Given the description of an element on the screen output the (x, y) to click on. 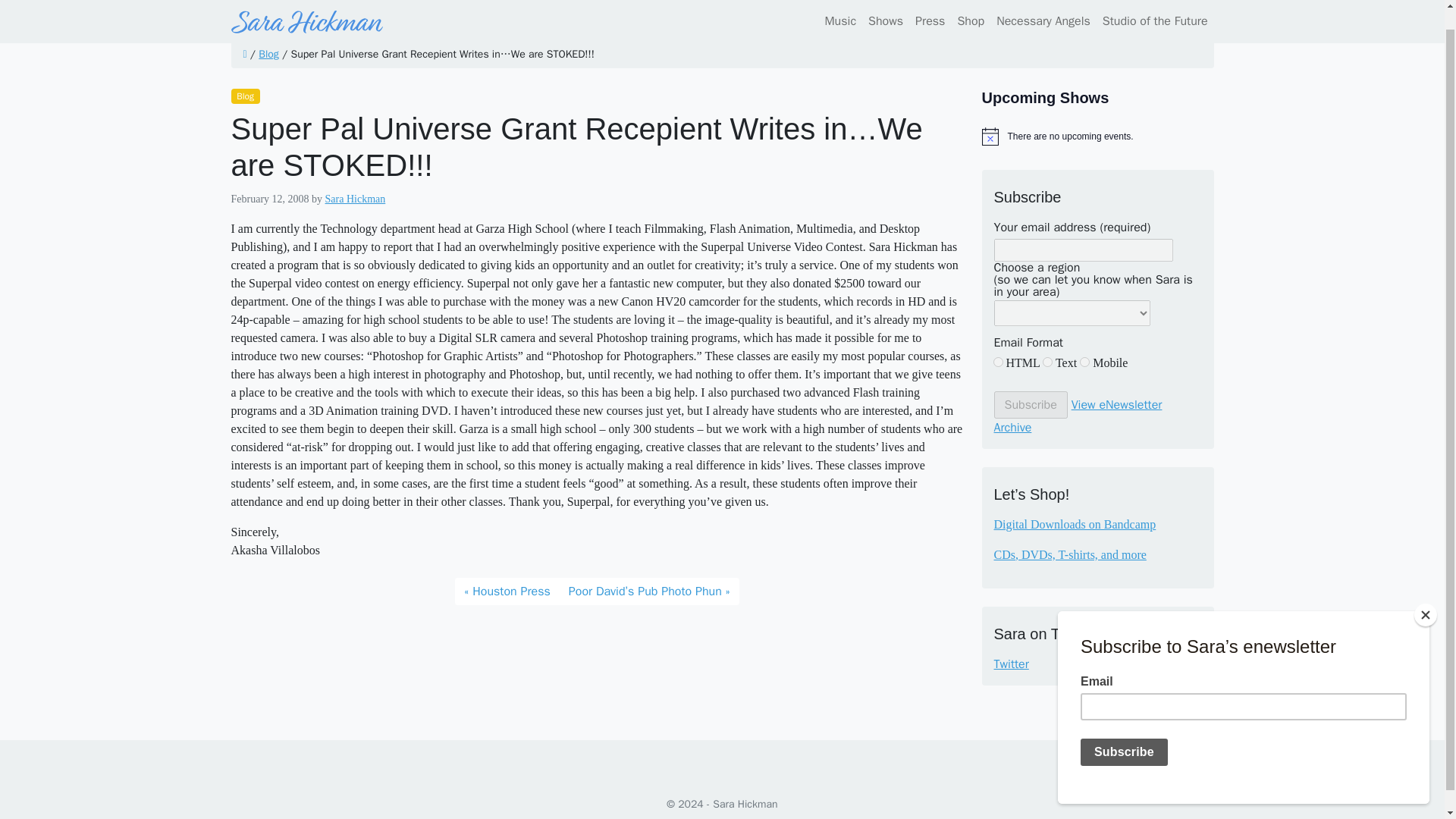
Houston Press (506, 591)
Digital Downloads on Bandcamp (1074, 523)
Subscribe (1029, 404)
CDs, DVDs, T-shirts, and more (1068, 554)
html (997, 361)
Sara Hickman (354, 198)
Shop (970, 7)
Shows (884, 7)
Posts by Sara Hickman (354, 198)
Blog (244, 96)
